Given the description of an element on the screen output the (x, y) to click on. 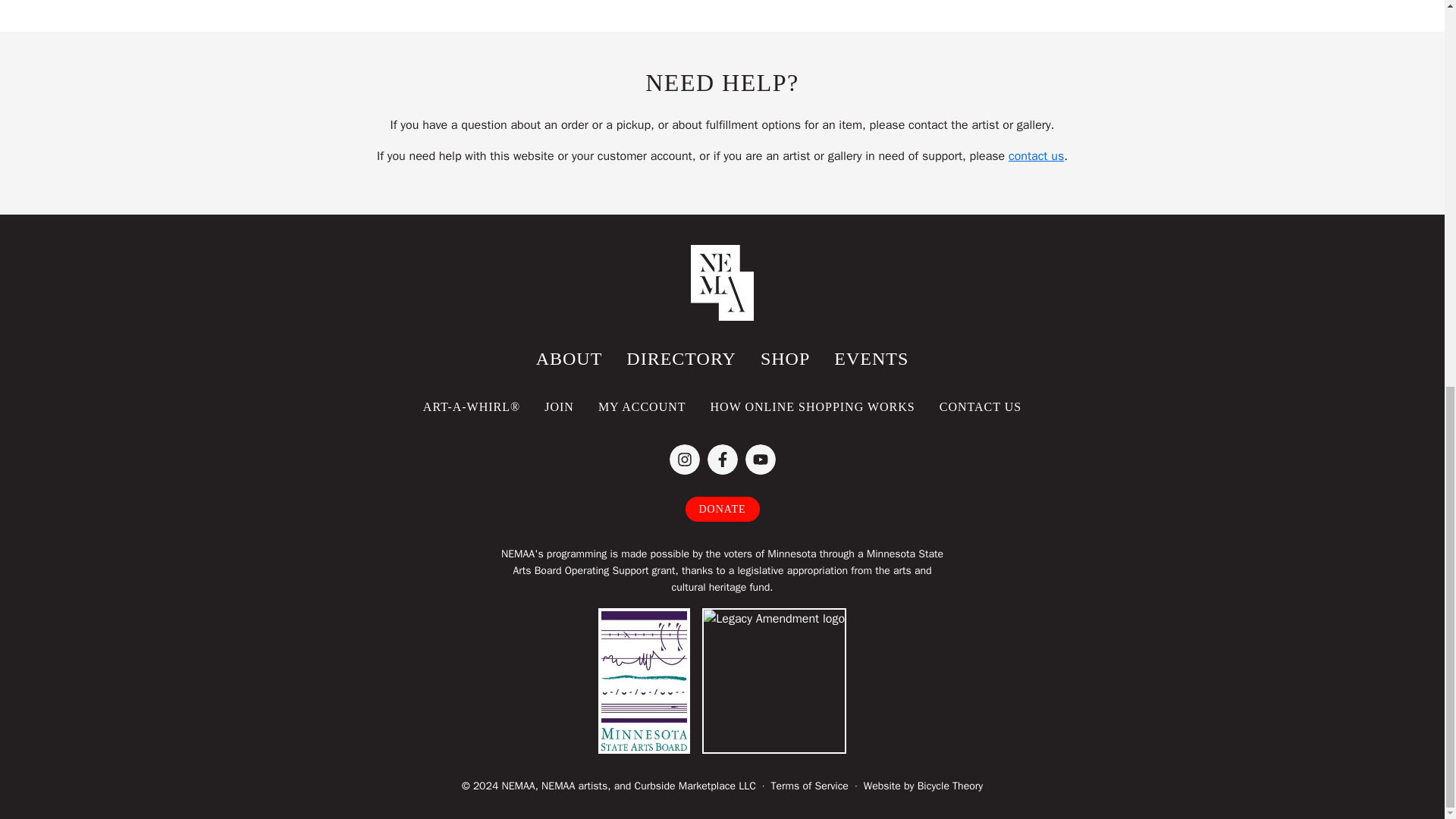
ABOUT (569, 359)
MY ACCOUNT (642, 406)
DIRECTORY (681, 359)
EVENTS (871, 359)
Instagram (683, 459)
contact us (1036, 155)
YouTube (759, 459)
DONATE (722, 508)
Facebook (721, 459)
SHOP (785, 359)
JOIN (559, 406)
CONTACT US (980, 406)
HOW ONLINE SHOPPING WORKS (812, 406)
